Given the description of an element on the screen output the (x, y) to click on. 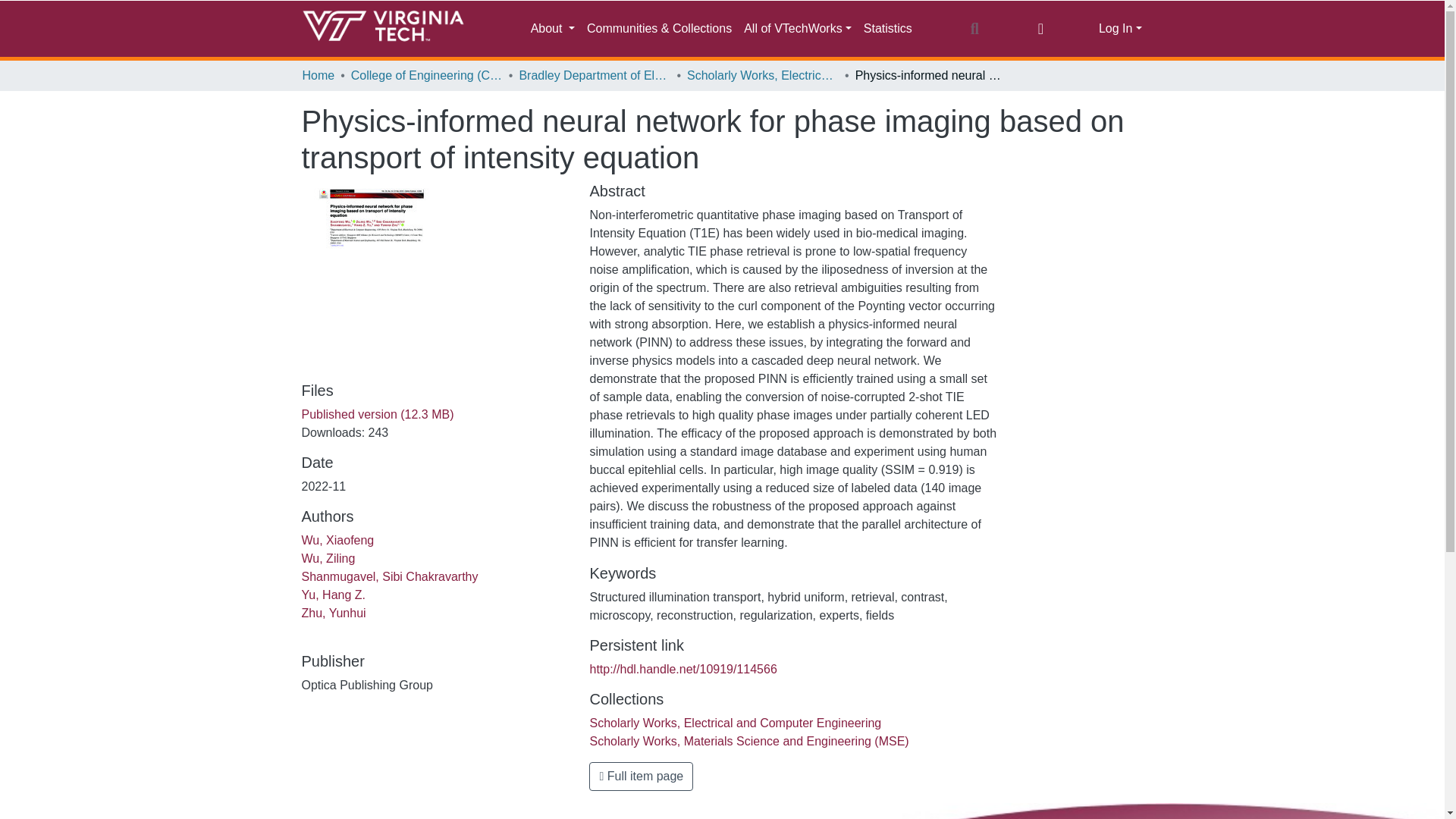
Language switch (1039, 28)
Wu, Xiaofeng (337, 540)
Statistics (887, 28)
Log In (1119, 28)
Zhu, Yunhui (333, 612)
Search (974, 28)
Bradley Department of Electrical and Computer Engineering (593, 75)
Wu, Ziling (328, 558)
All of VTechWorks (797, 28)
Statistics (887, 28)
